Given the description of an element on the screen output the (x, y) to click on. 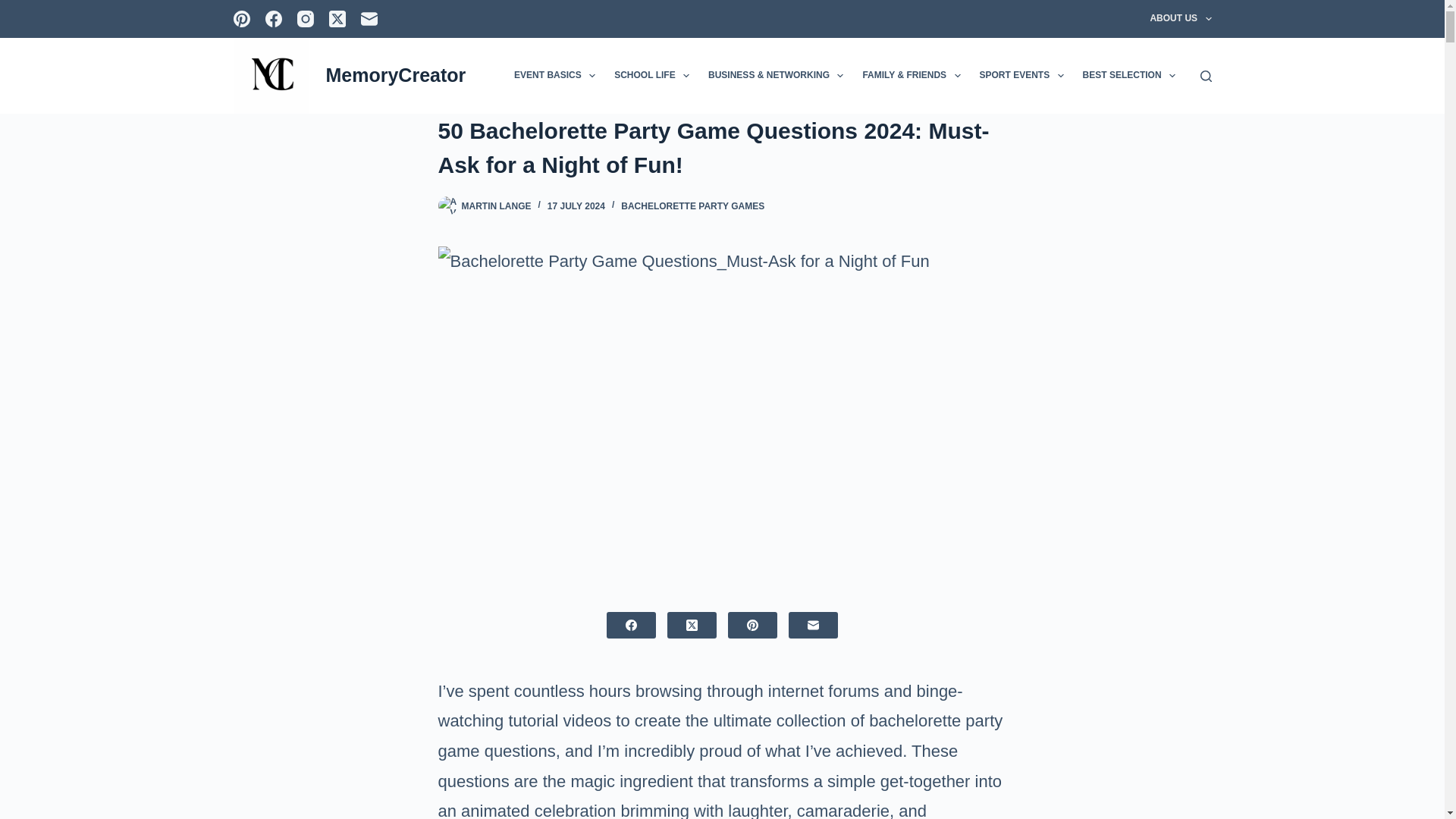
Posts by Martin Lange (496, 205)
Skip to content (15, 7)
